Given the description of an element on the screen output the (x, y) to click on. 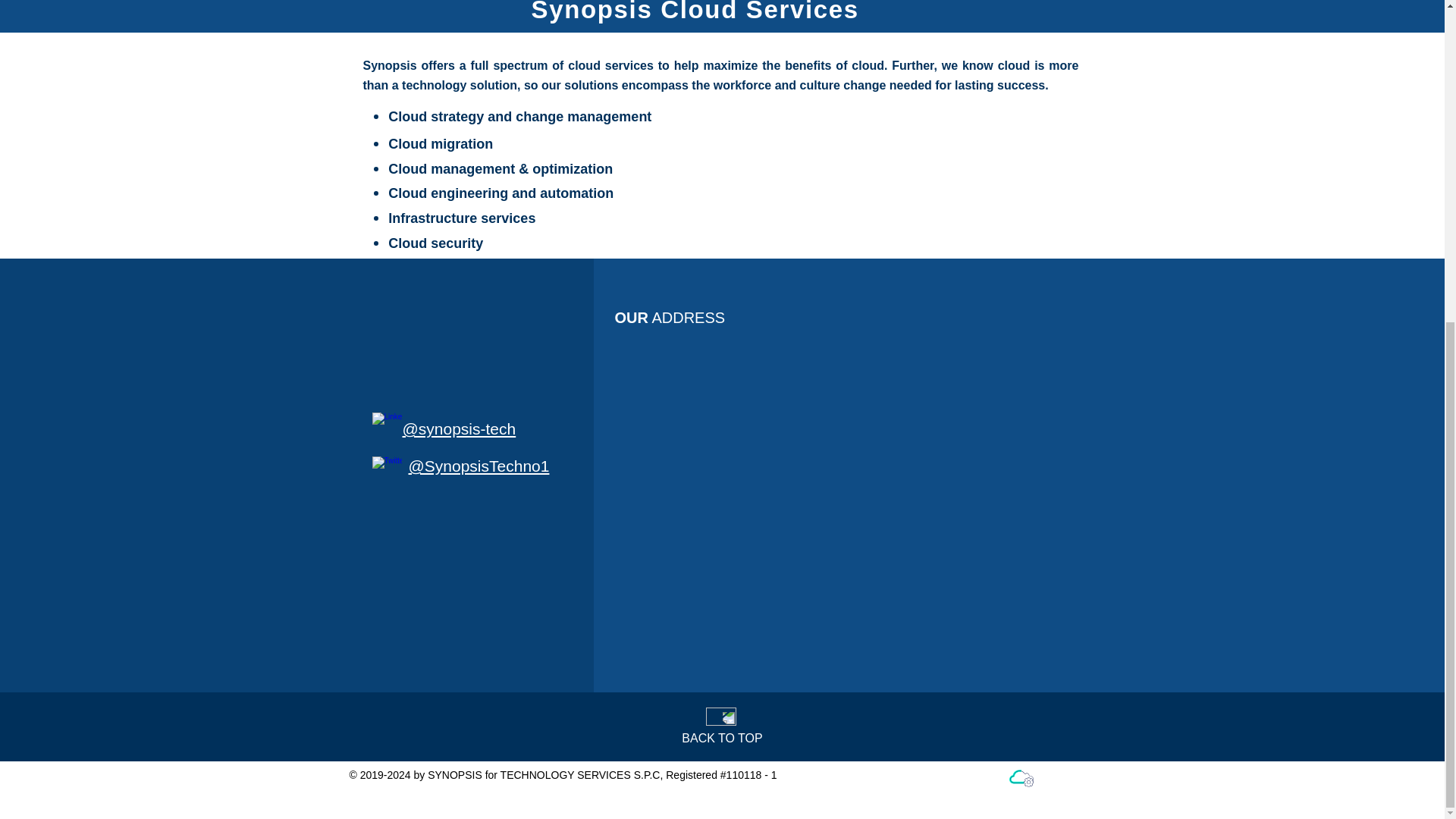
BACK TO TOP (721, 738)
